Given the description of an element on the screen output the (x, y) to click on. 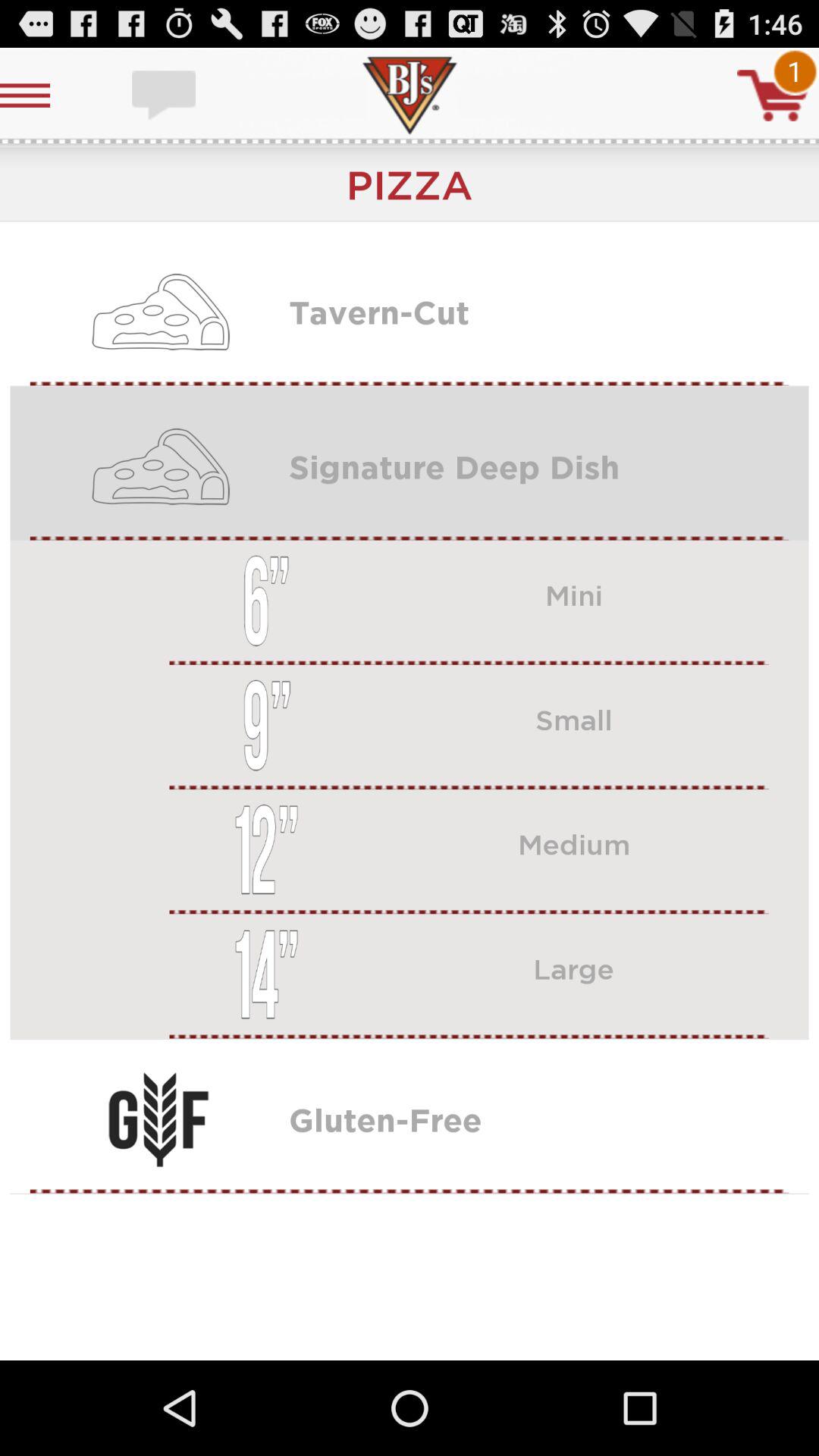
go to comments option (165, 95)
